Given the description of an element on the screen output the (x, y) to click on. 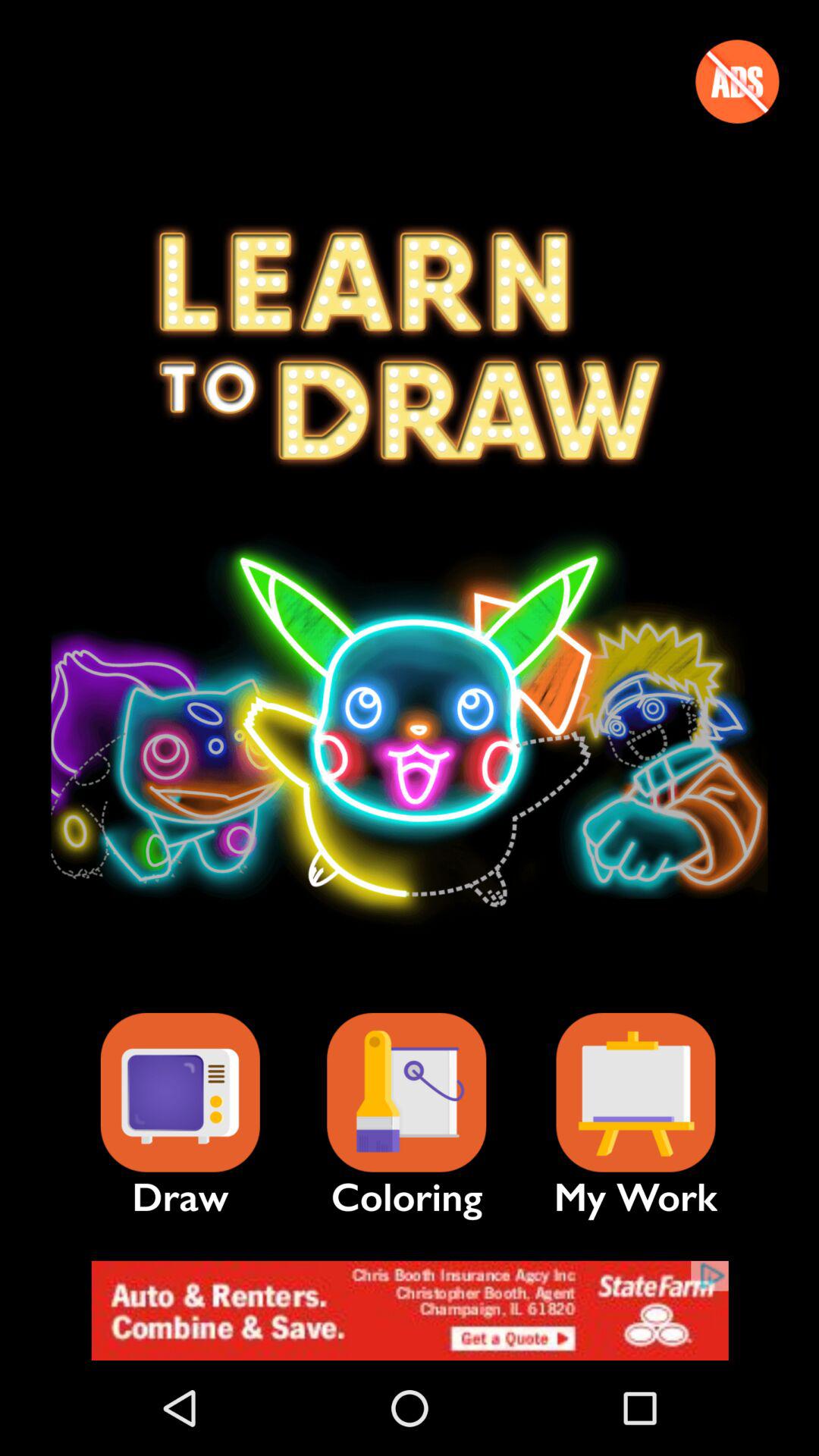
launch the icon below the draw icon (409, 1310)
